Given the description of an element on the screen output the (x, y) to click on. 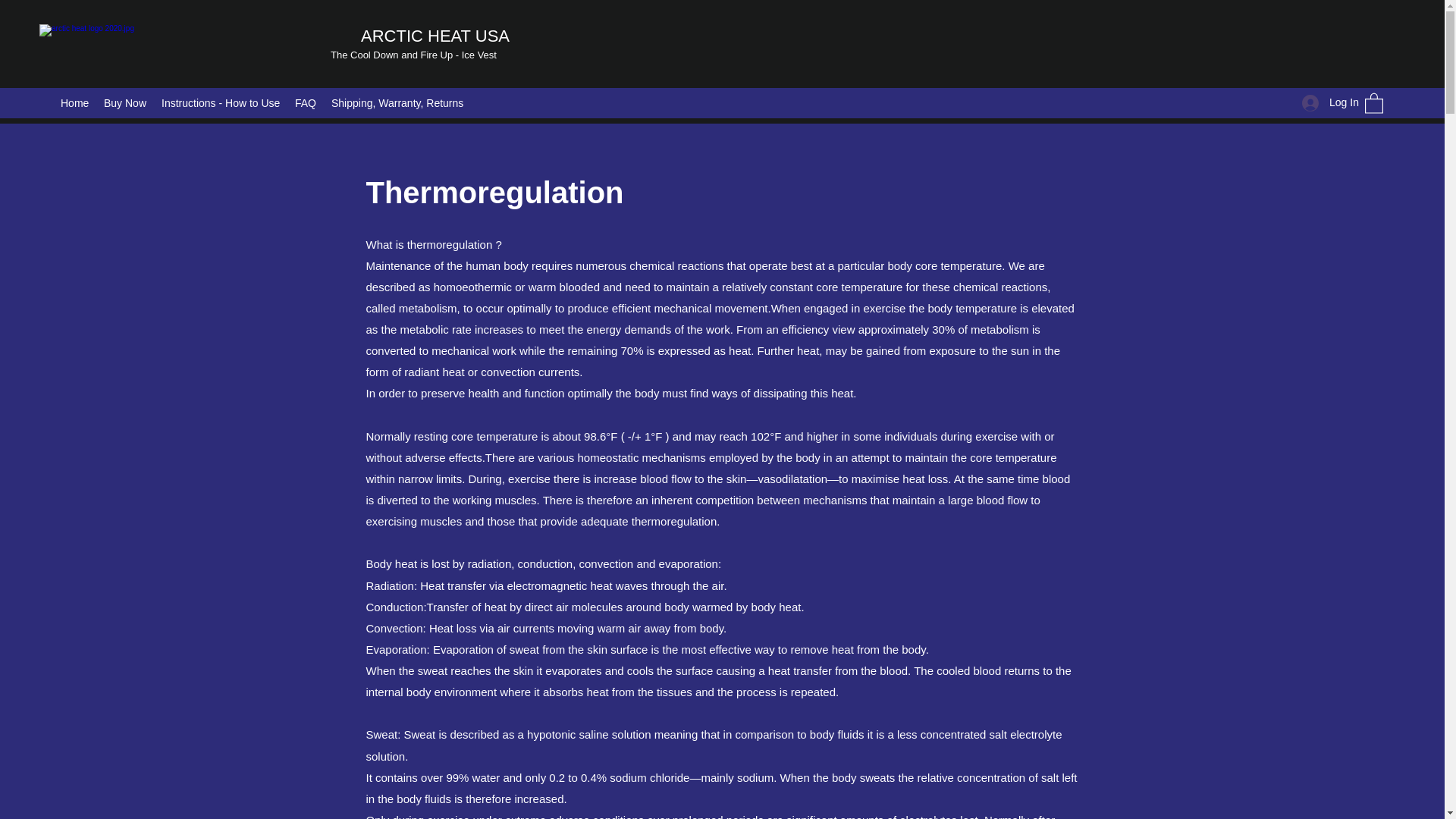
ARCTIC HEAT USA (435, 35)
Buy Now (125, 102)
Log In (1325, 102)
Instructions - How to Use (220, 102)
Shipping, Warranty, Returns (396, 102)
Home (74, 102)
FAQ (304, 102)
